Given the description of an element on the screen output the (x, y) to click on. 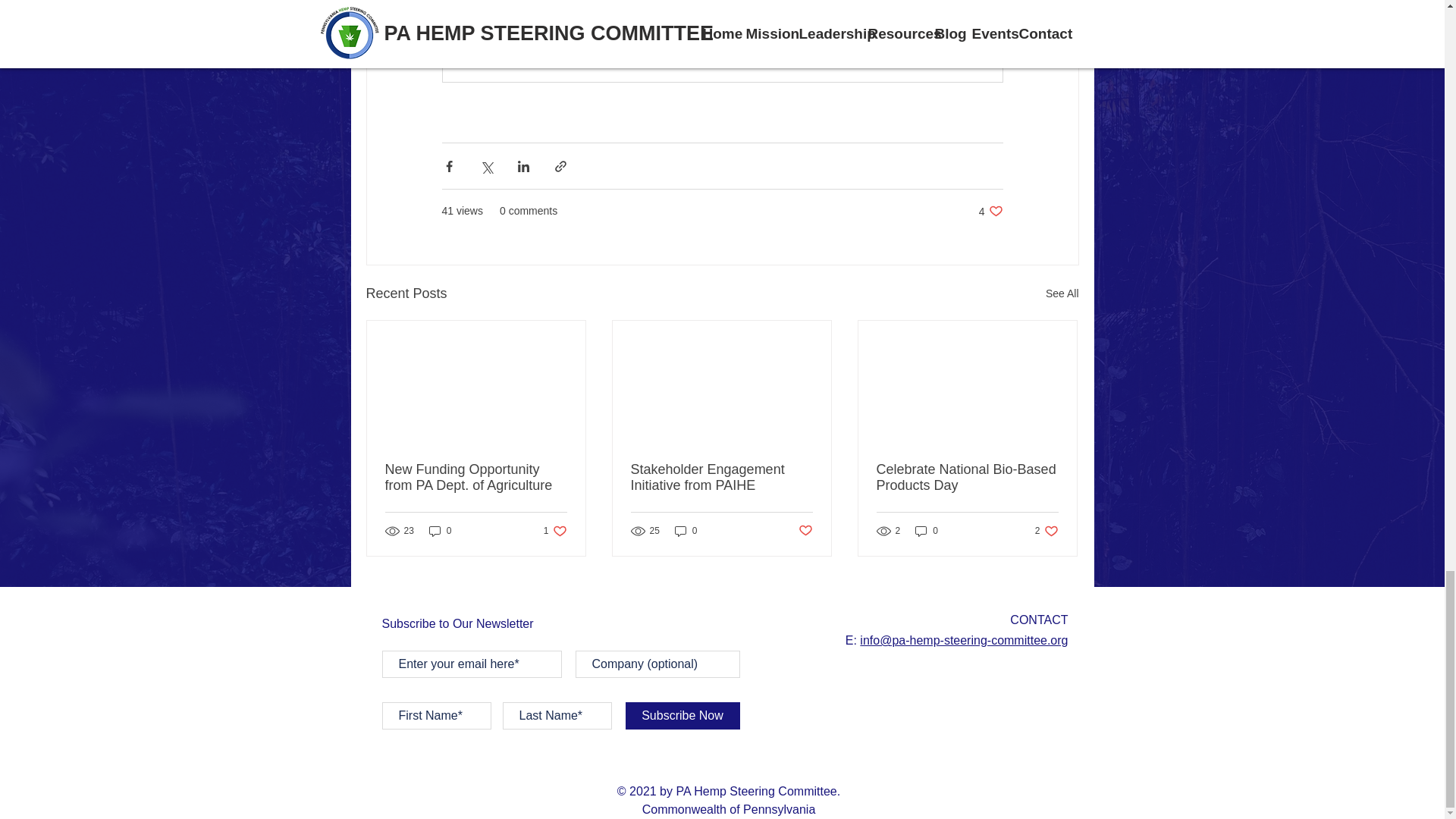
Celebrate National Bio-Based Products Day (967, 477)
0 (440, 531)
Stakeholder Engagement Initiative from PAIHE (555, 531)
0 (1046, 531)
Post not marked as liked (990, 210)
0 (721, 477)
New Funding Opportunity from PA Dept. of Agriculture (685, 531)
See All (804, 530)
Subscribe Now (926, 531)
